Given the description of an element on the screen output the (x, y) to click on. 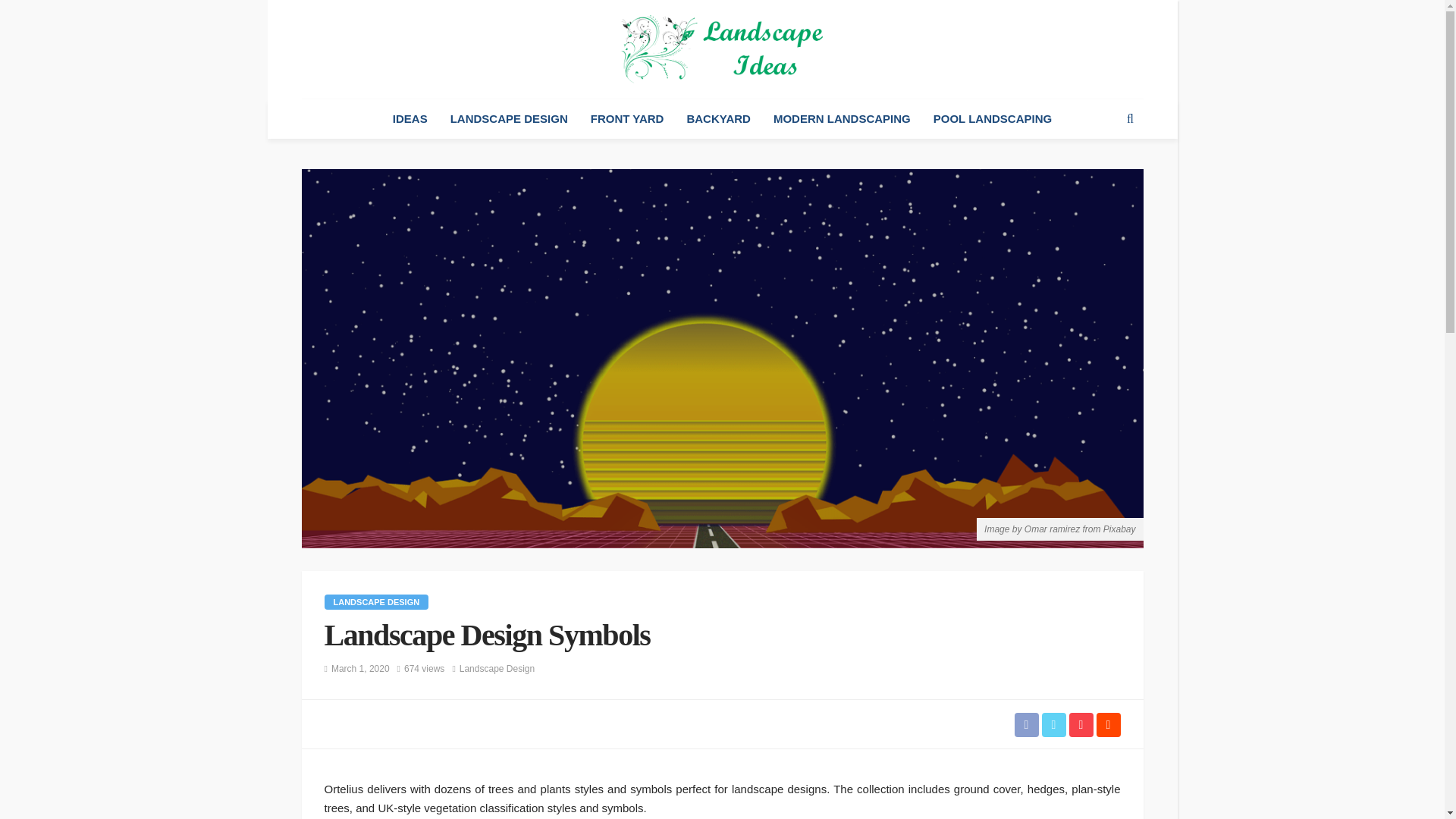
Landscape Design (497, 668)
Landscape Design (376, 601)
Landscape Design Symbols (424, 668)
Landscape Ideas (721, 49)
